Given the description of an element on the screen output the (x, y) to click on. 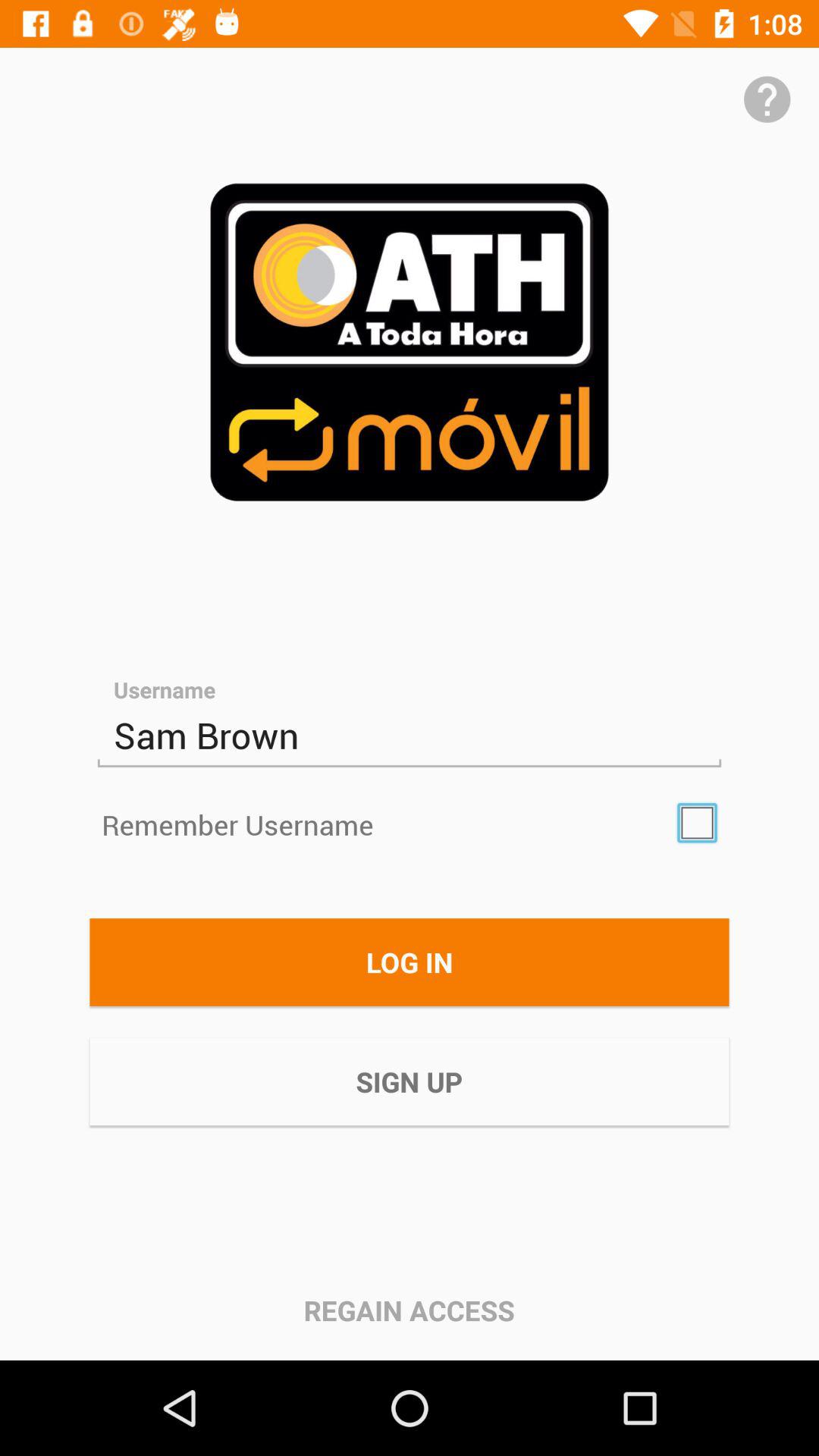
tap item next to remember username (697, 822)
